Given the description of an element on the screen output the (x, y) to click on. 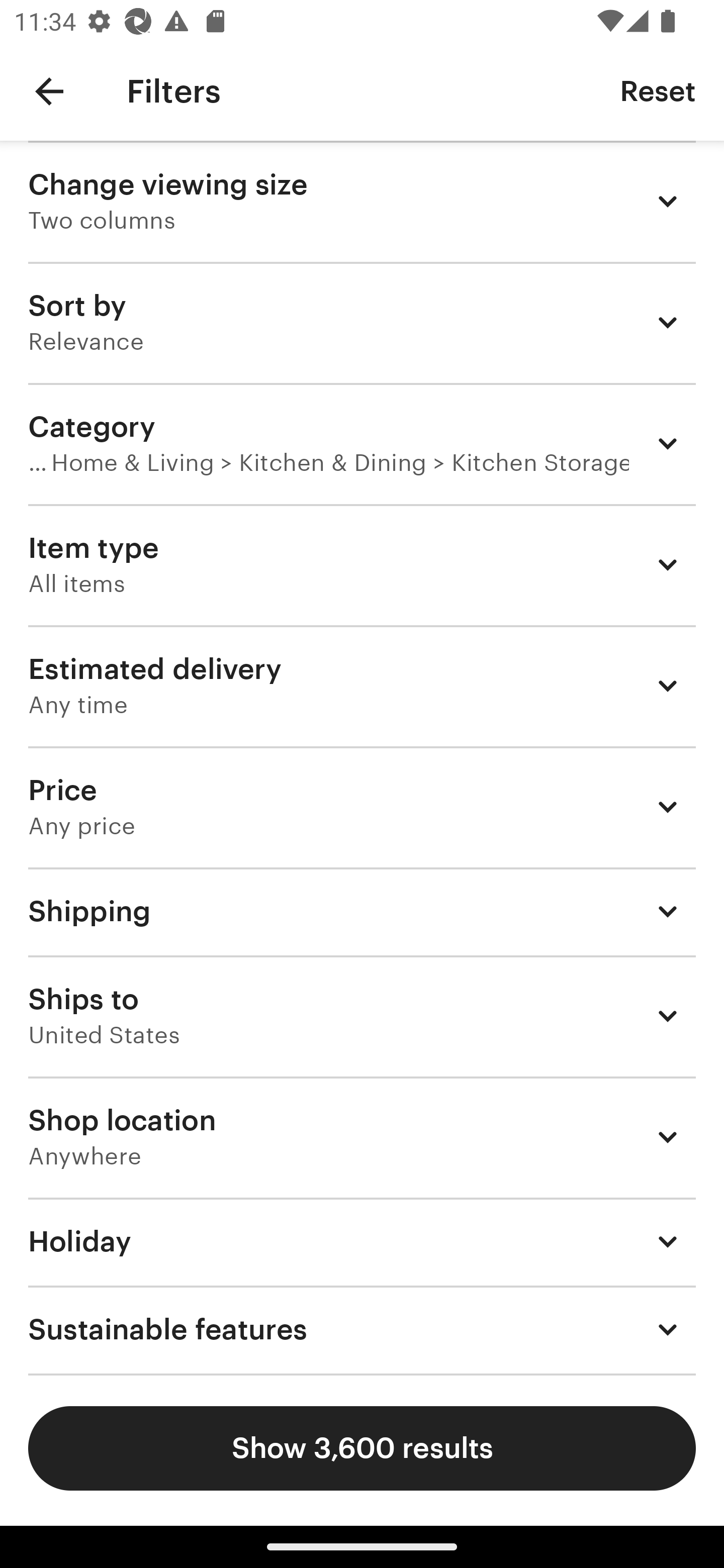
Navigate up (49, 91)
Reset (657, 90)
Change viewing size Two columns (362, 201)
Sort by Relevance (362, 321)
Item type All items (362, 564)
Estimated delivery Any time (362, 685)
Price Any price (362, 806)
Shipping (362, 910)
Ships to United States (362, 1015)
Shop location Anywhere (362, 1137)
Holiday (362, 1241)
Sustainable features (362, 1329)
Show 3,600 results Show results (361, 1448)
